Given the description of an element on the screen output the (x, y) to click on. 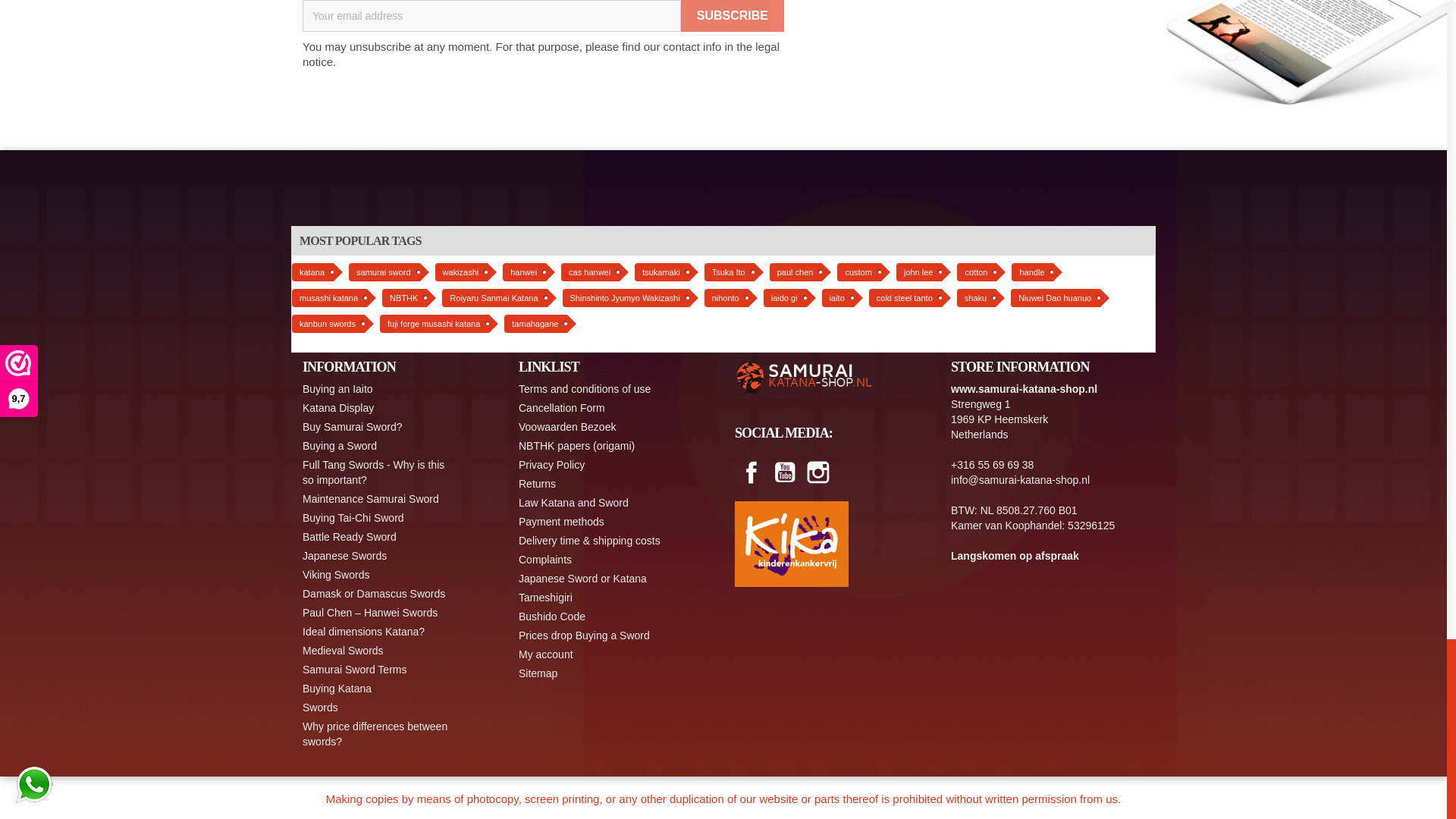
Subscribe (732, 15)
